Given the description of an element on the screen output the (x, y) to click on. 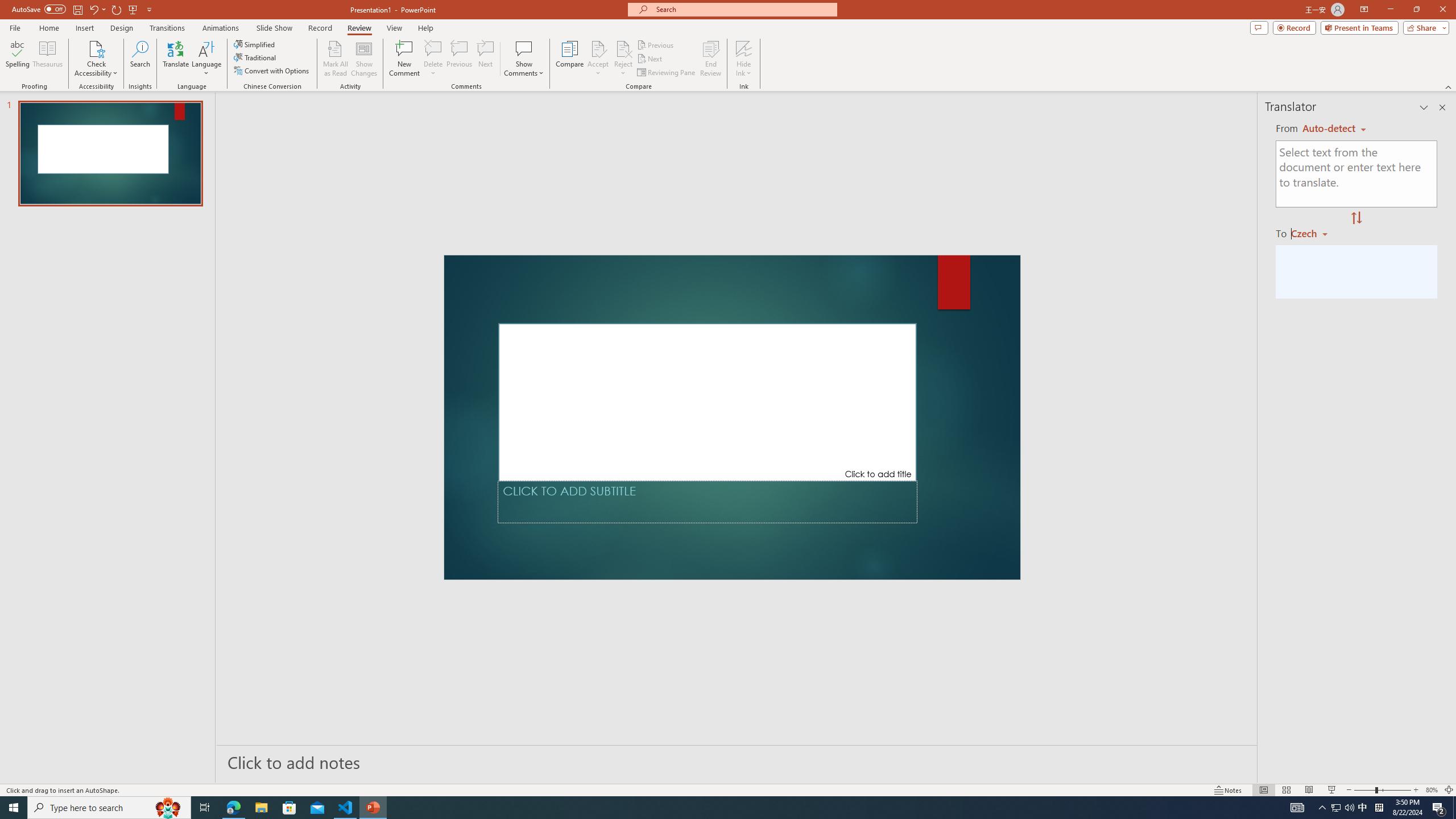
Thesaurus... (47, 58)
Accept (598, 58)
